Given the description of an element on the screen output the (x, y) to click on. 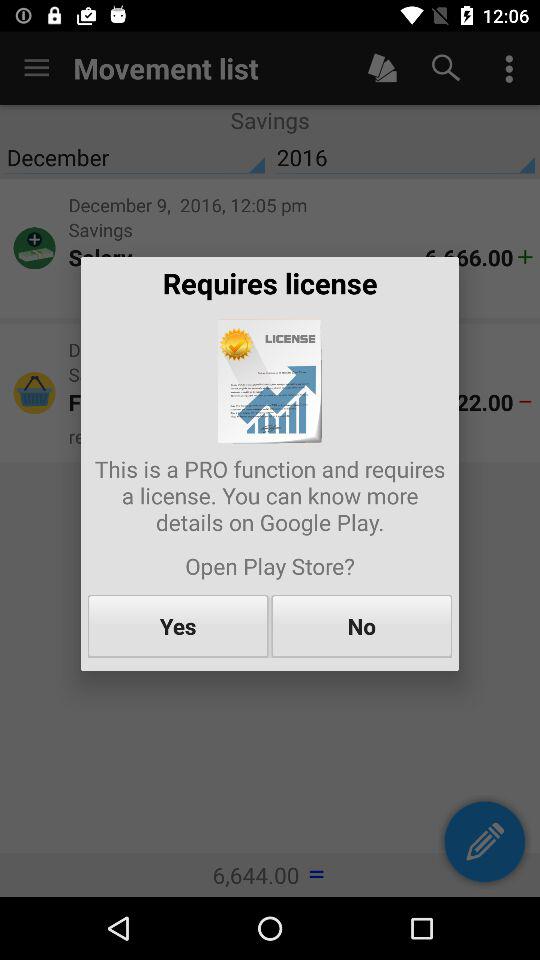
press yes icon (177, 625)
